Given the description of an element on the screen output the (x, y) to click on. 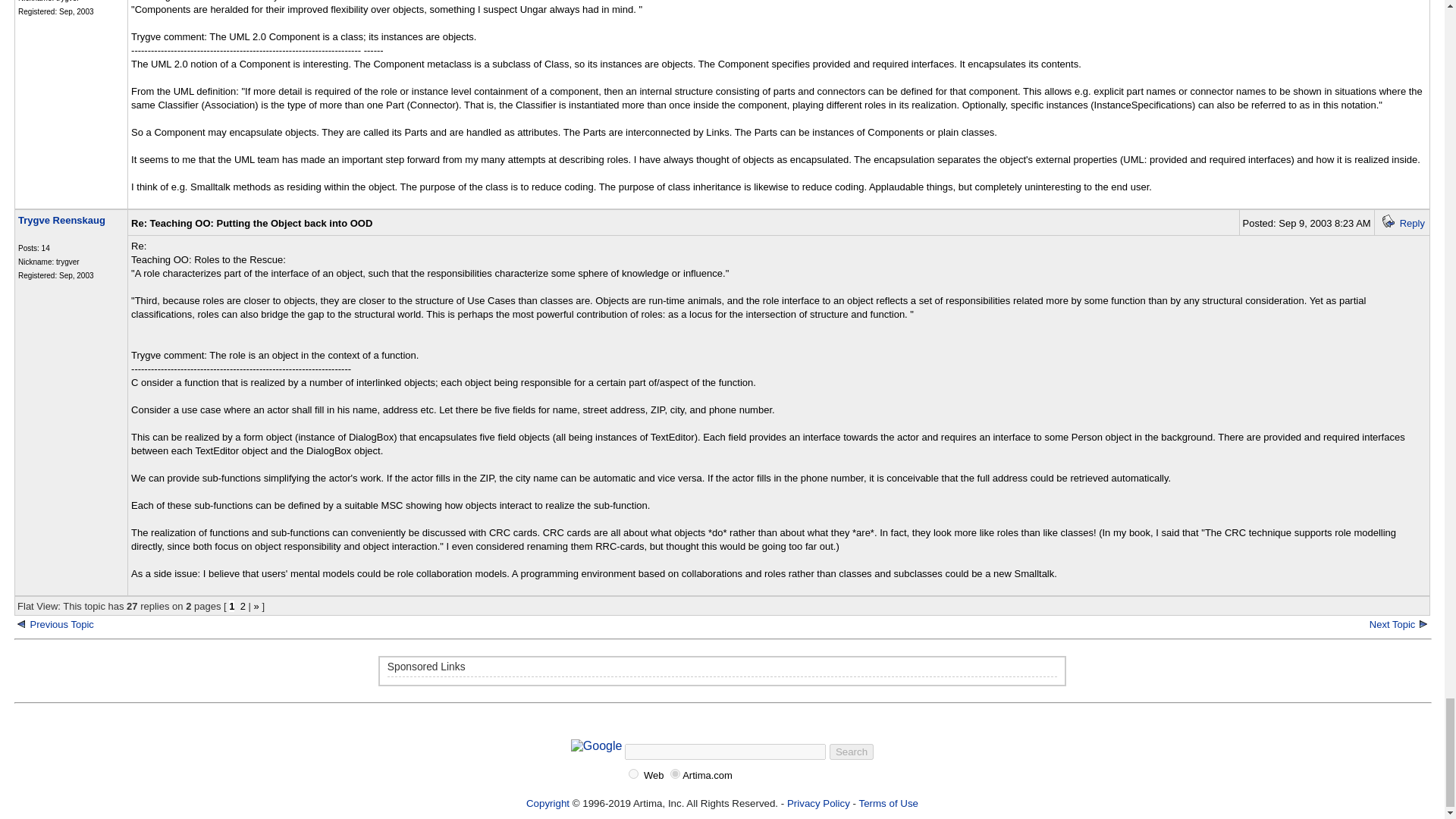
Search (851, 751)
Artima.com (674, 773)
